Given the description of an element on the screen output the (x, y) to click on. 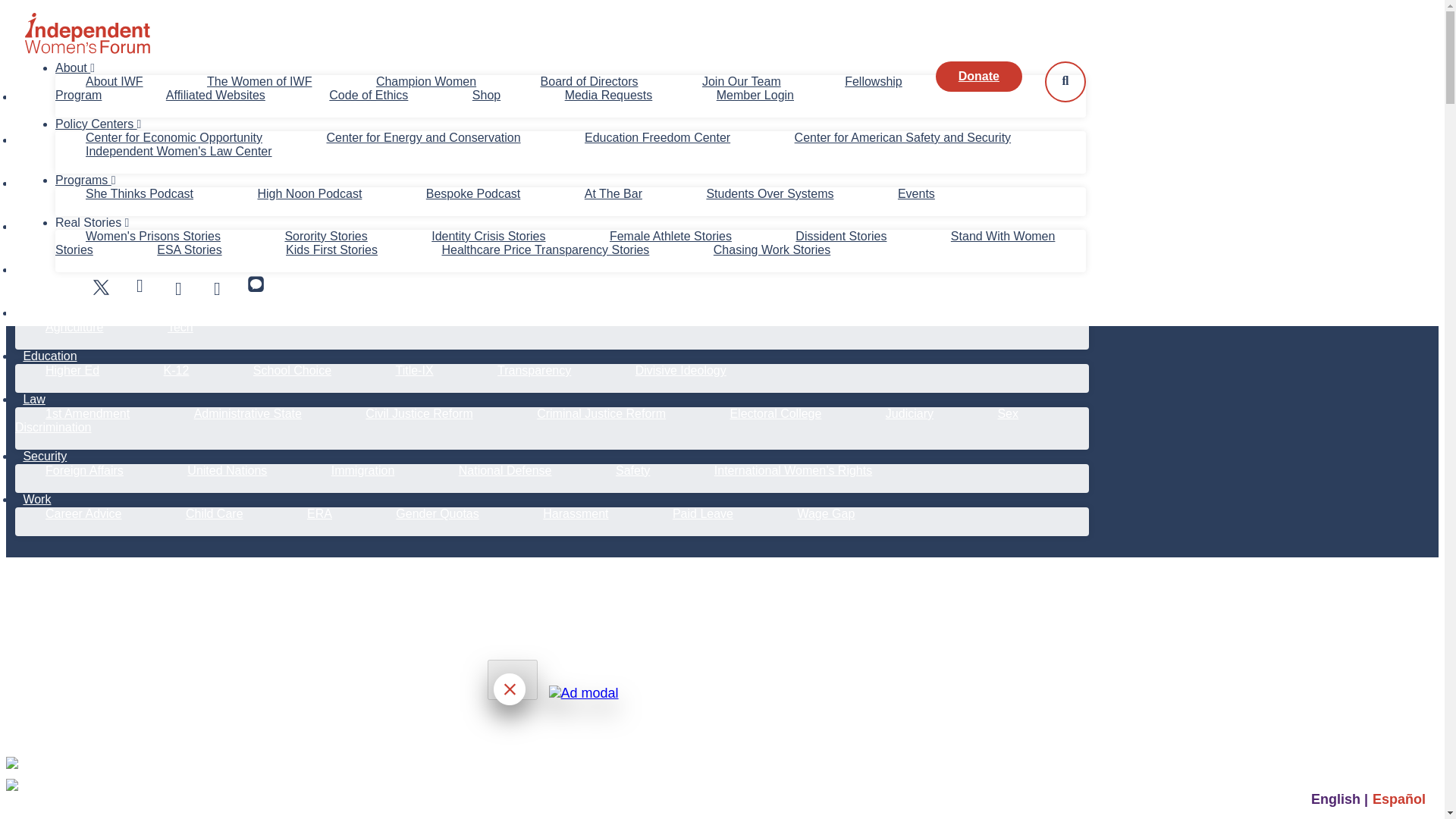
Students Over Systems (769, 193)
Donate (979, 76)
About (74, 67)
She Thinks Podcast (139, 193)
Shop (486, 94)
High Noon Podcast (309, 193)
Center for Energy and Conservation (422, 137)
At The Bar (613, 193)
Stand With Women Stories (554, 242)
Events (916, 193)
Women's Prisons Stories (152, 235)
ESA Stories (188, 249)
Sorority Stories (325, 235)
Bespoke Podcast (473, 193)
Board of Directors (589, 81)
